Given the description of an element on the screen output the (x, y) to click on. 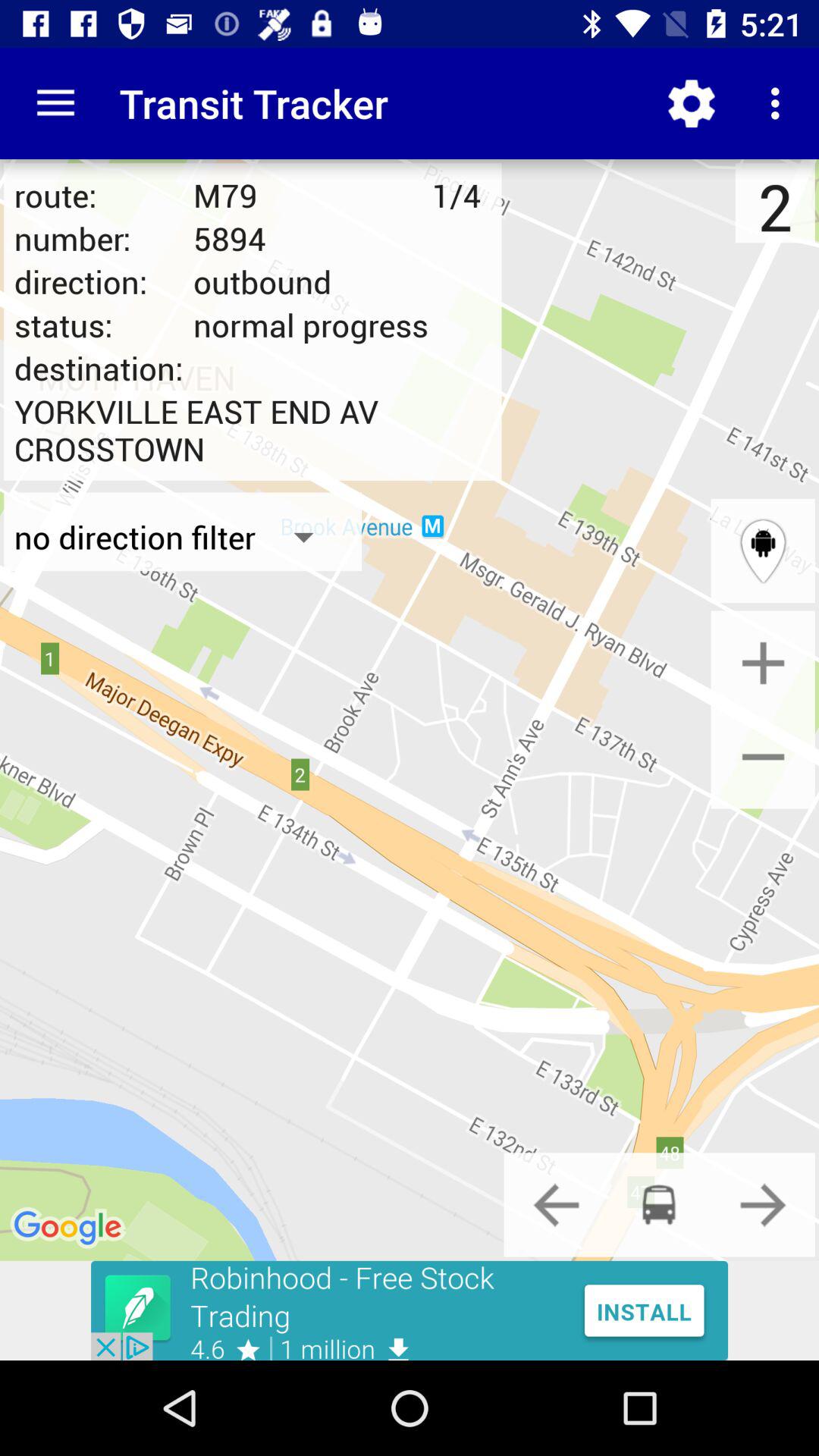
google advertisements (409, 1310)
